Given the description of an element on the screen output the (x, y) to click on. 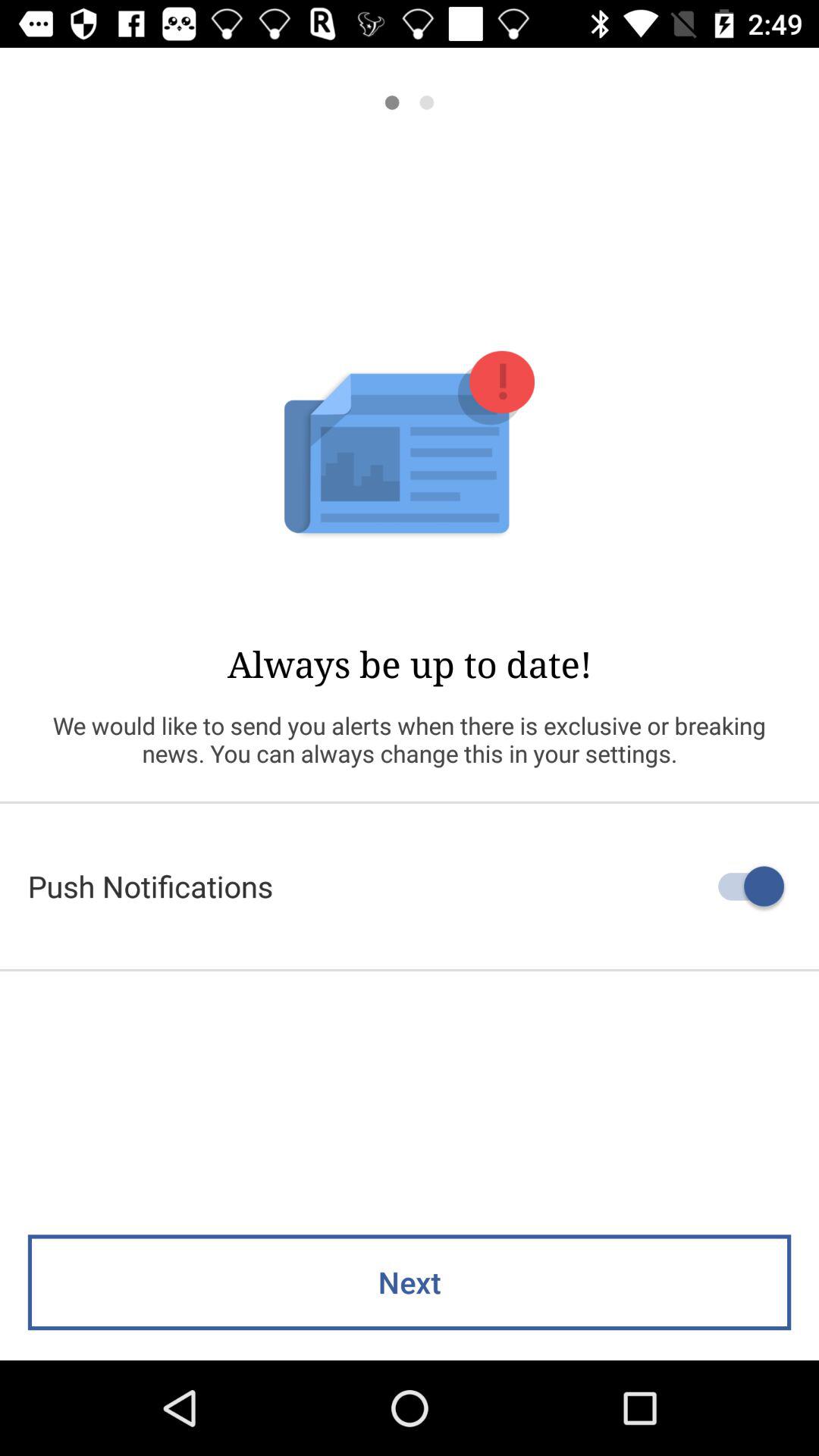
jump until the next icon (409, 1282)
